Given the description of an element on the screen output the (x, y) to click on. 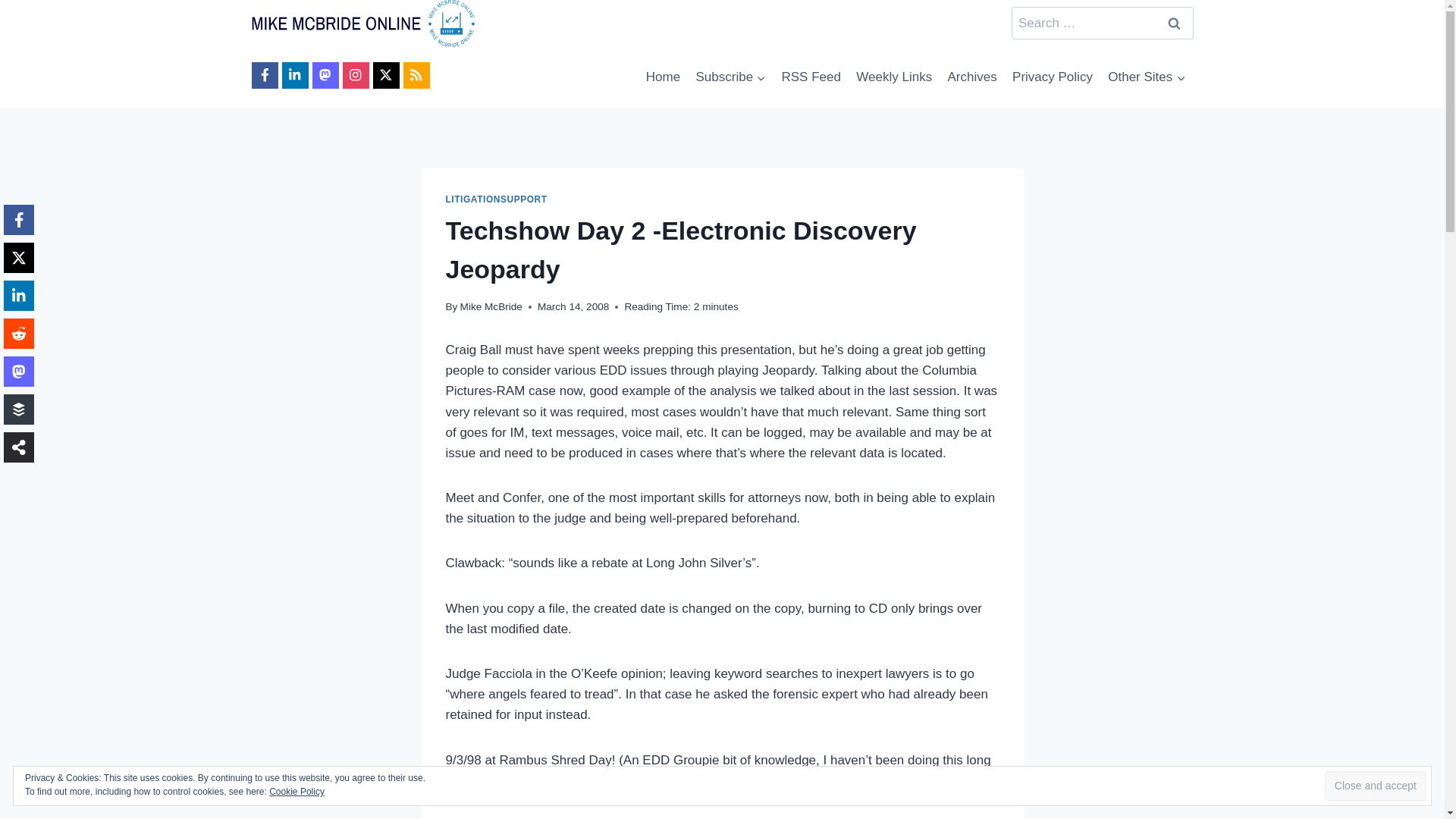
Privacy Policy (1052, 76)
Search (1174, 22)
Other Sites (1146, 76)
Home (663, 76)
LITIGATIONSUPPORT (496, 199)
Search (1174, 22)
Archives (971, 76)
Subscribe (730, 76)
Weekly Links (893, 76)
Search (1174, 22)
